Given the description of an element on the screen output the (x, y) to click on. 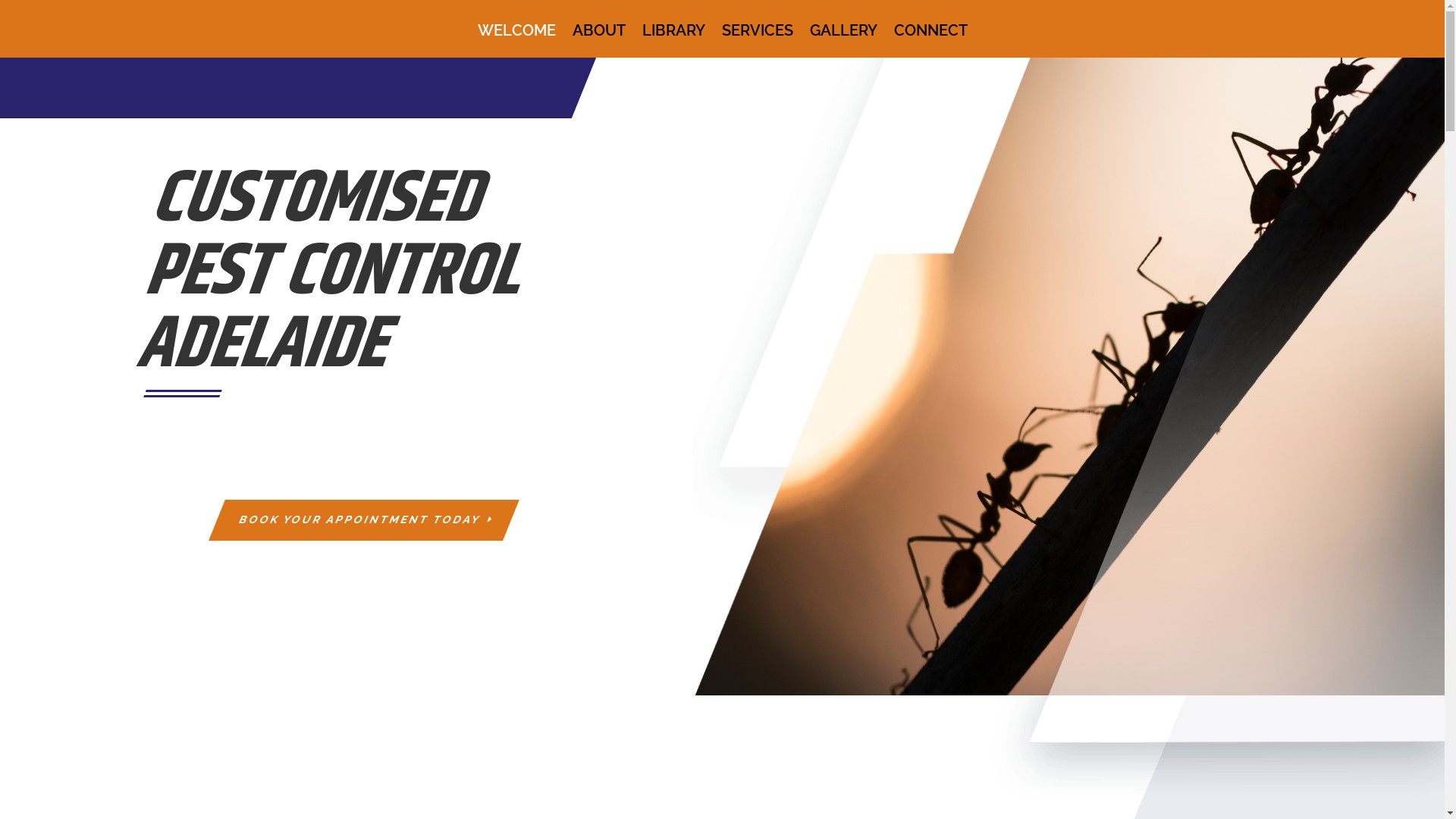
BOOK YOUR APPOINTMENT TODAY Element type: text (355, 519)
ABOUT Element type: text (597, 41)
CONNECT Element type: text (929, 41)
GALLERY Element type: text (843, 41)
ants walking on a stick large Element type: hover (1068, 376)
WELCOME Element type: text (516, 41)
LIBRARY Element type: text (672, 41)
SERVICES Element type: text (757, 41)
